Given the description of an element on the screen output the (x, y) to click on. 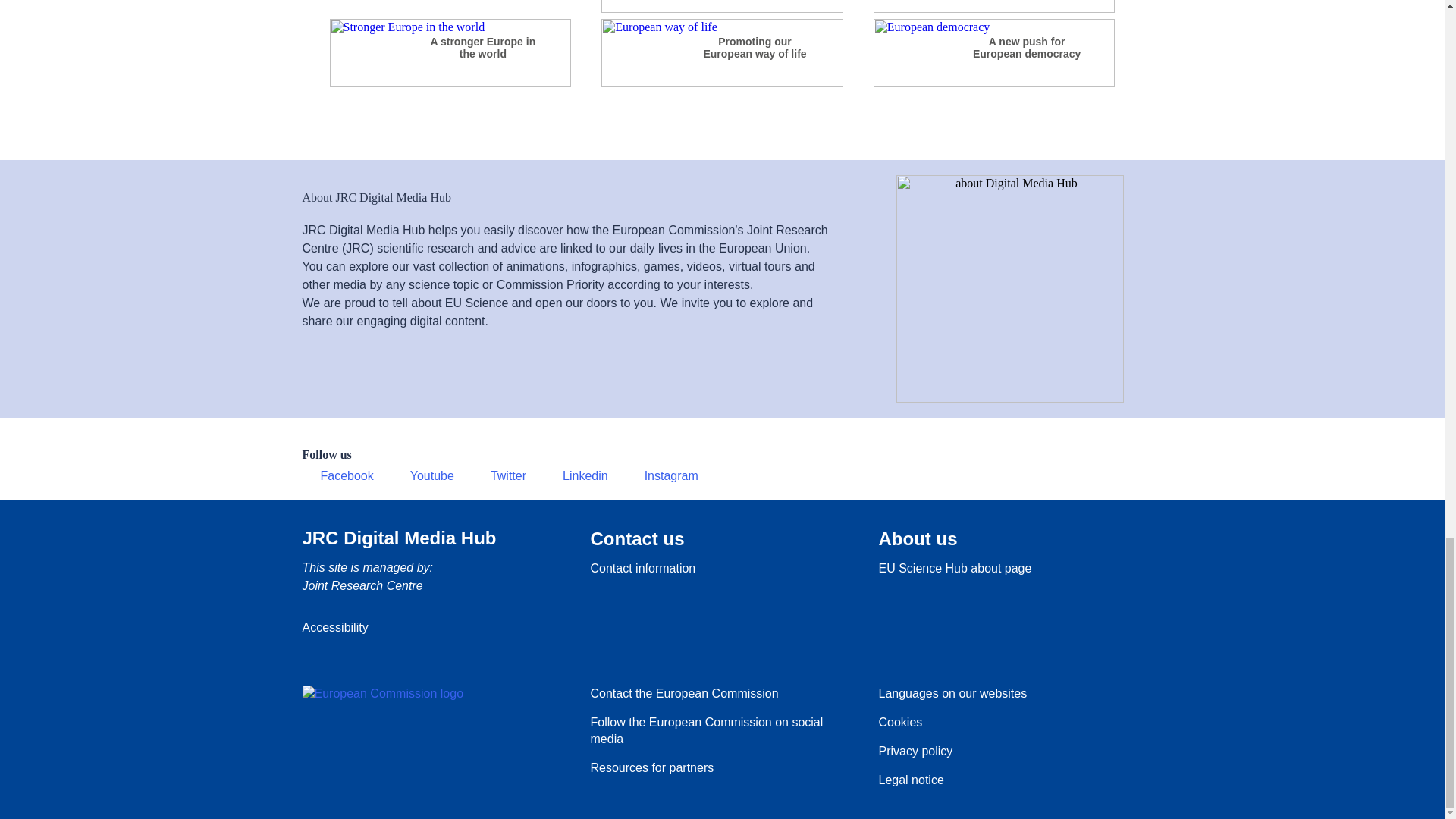
A Europe fit for the digital age (722, 8)
European Commission (382, 693)
Promoting our European way of life (722, 82)
A stronger Europe in the world (449, 82)
A European Green Deal (449, 8)
A new push for European democracy (1026, 47)
Promoting our European way of life (754, 47)
A new push for European democracy (994, 82)
A stronger Europe in the world (482, 47)
An economy that works for people (994, 8)
